Given the description of an element on the screen output the (x, y) to click on. 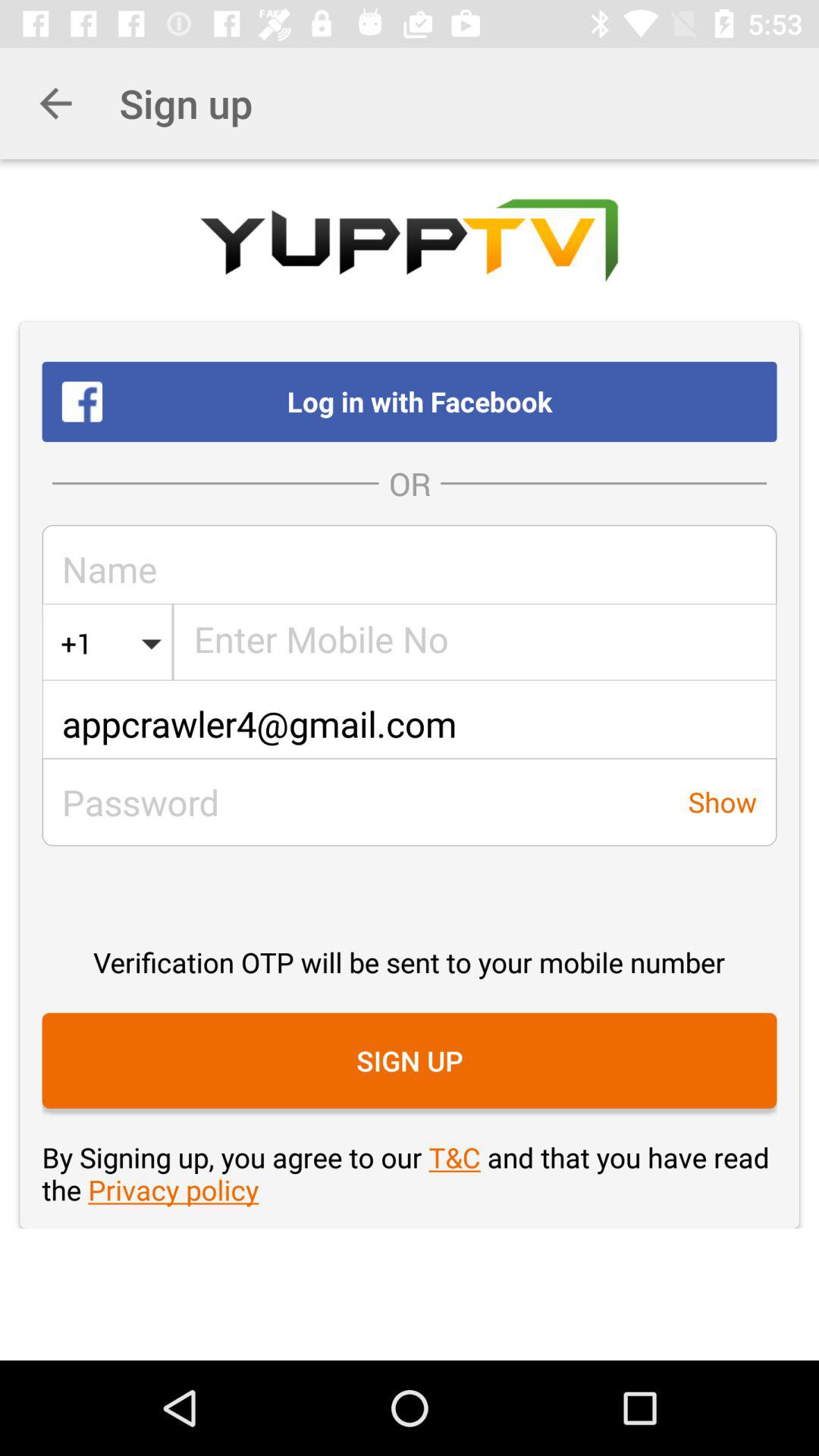
enter password (355, 802)
